Given the description of an element on the screen output the (x, y) to click on. 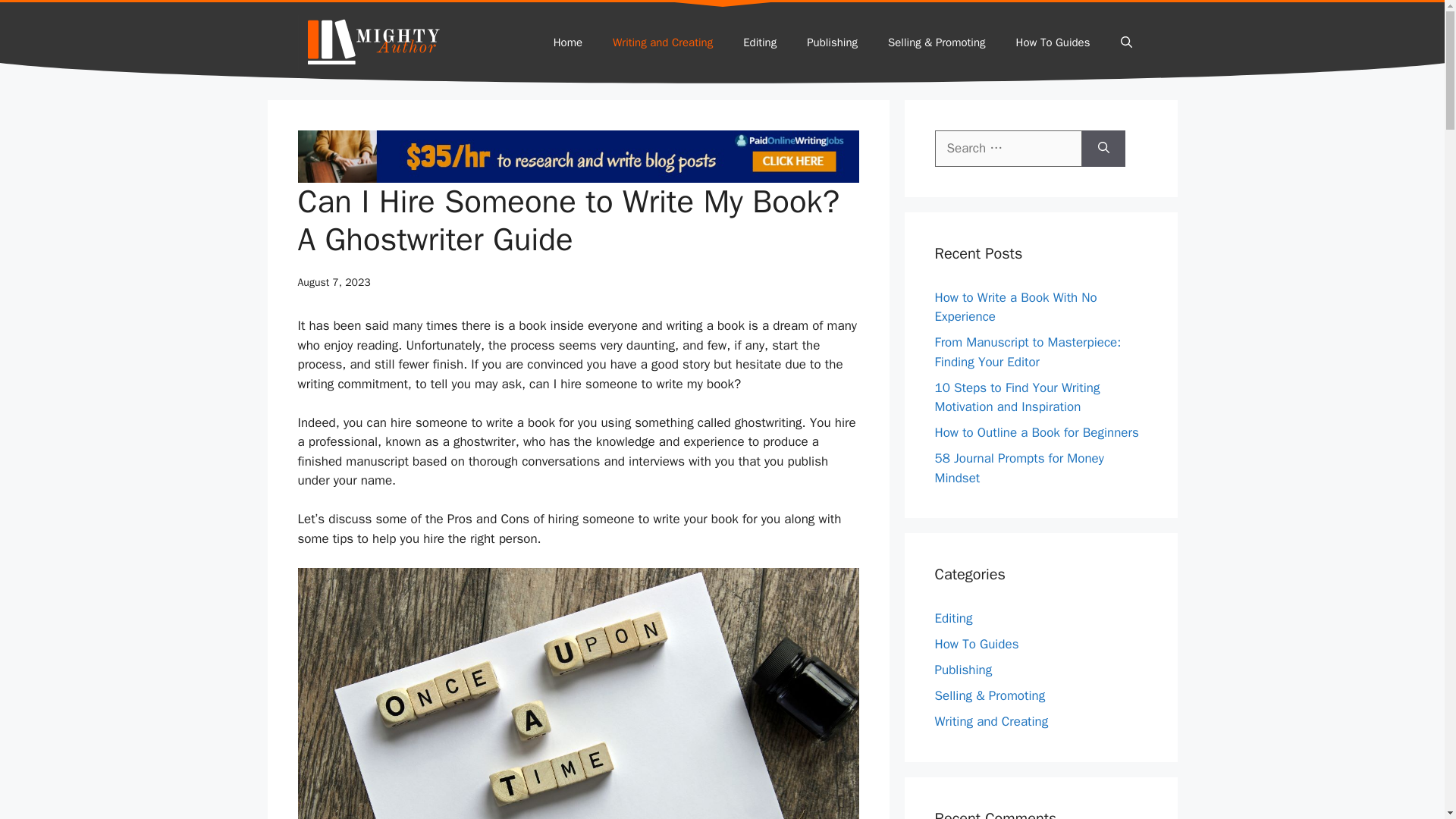
Editing (760, 42)
Publishing (832, 42)
How To Guides (1053, 42)
Home (567, 42)
Writing and Creating (662, 42)
